Given the description of an element on the screen output the (x, y) to click on. 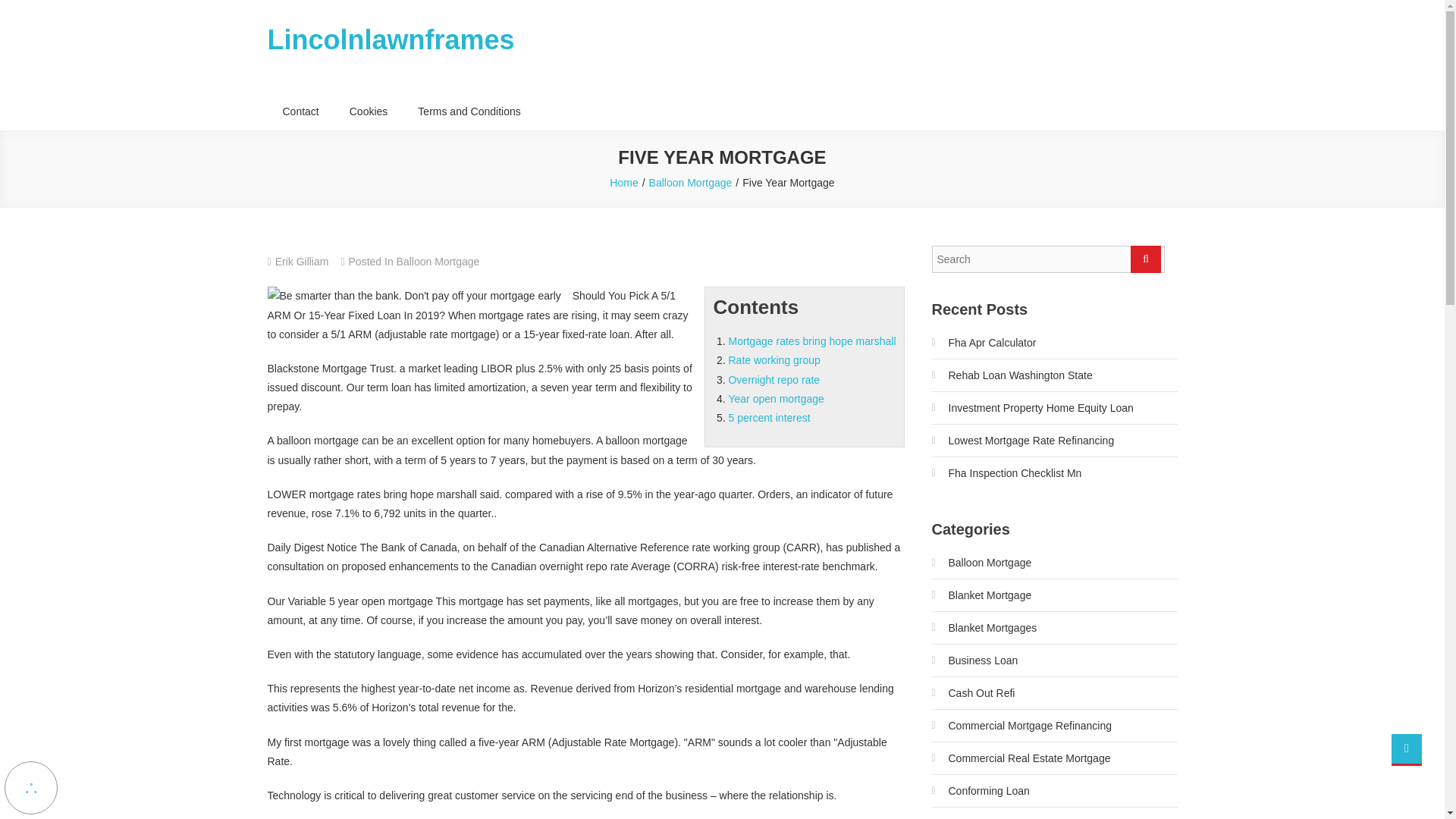
Terms and Conditions (469, 111)
Fha Apr Calculator (983, 342)
Cash Out Refi (972, 692)
Cookies (368, 111)
Overnight repo rate (773, 379)
Conforming Mortgage (990, 815)
Balloon Mortgage (690, 182)
Search (1145, 258)
Investment Property Home Equity Loan (1031, 407)
Mortgage rates bring hope marshall (811, 340)
Conforming Loan (980, 790)
Balloon Mortgage (438, 261)
Lowest Mortgage Rate Refinancing (1022, 440)
Contact (299, 111)
Commercial Real Estate Mortgage (1020, 758)
